Given the description of an element on the screen output the (x, y) to click on. 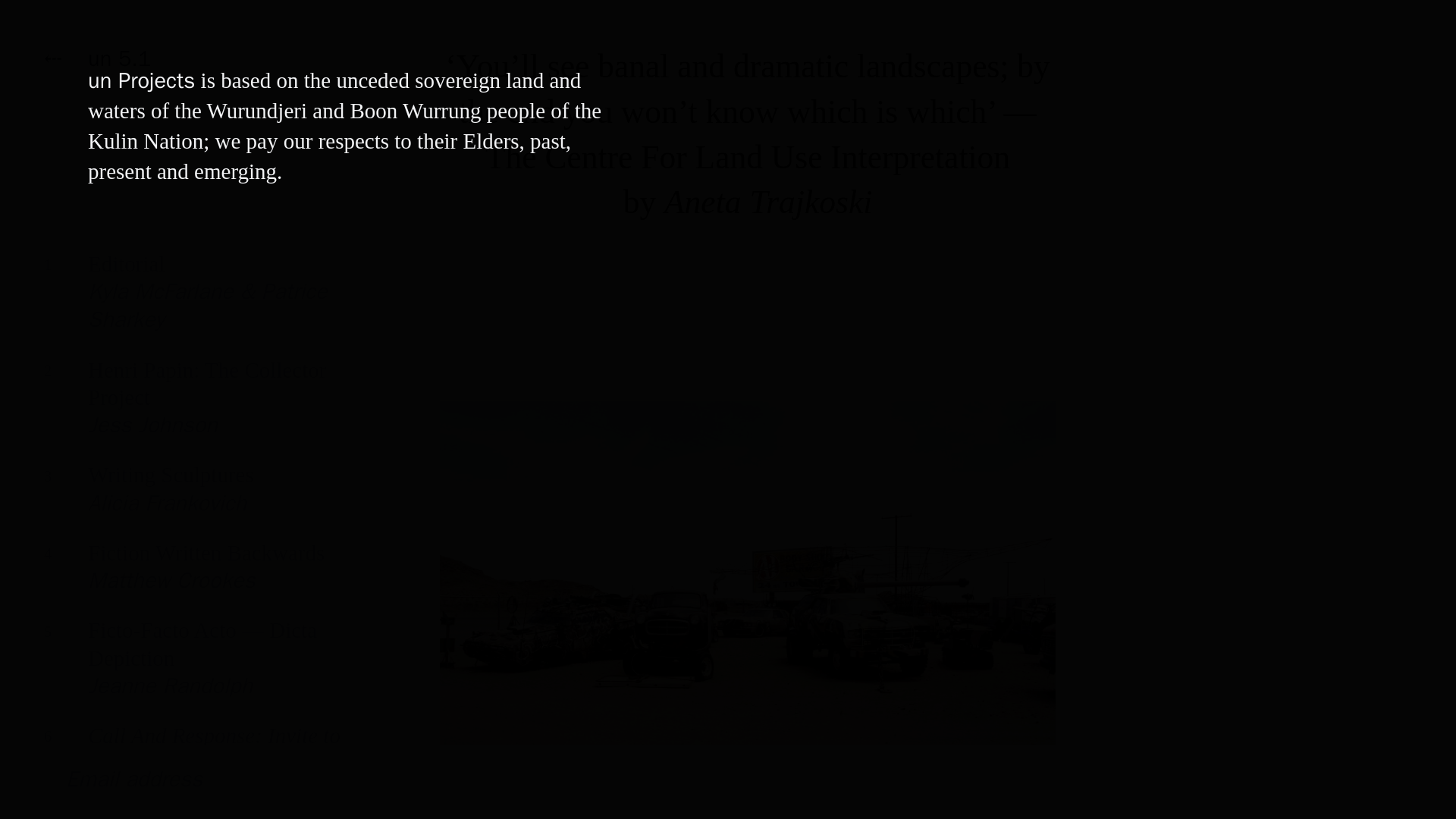
Posts by Aneta Trajkoski (197, 499)
Aneta Trajkoski (767, 201)
